Given the description of an element on the screen output the (x, y) to click on. 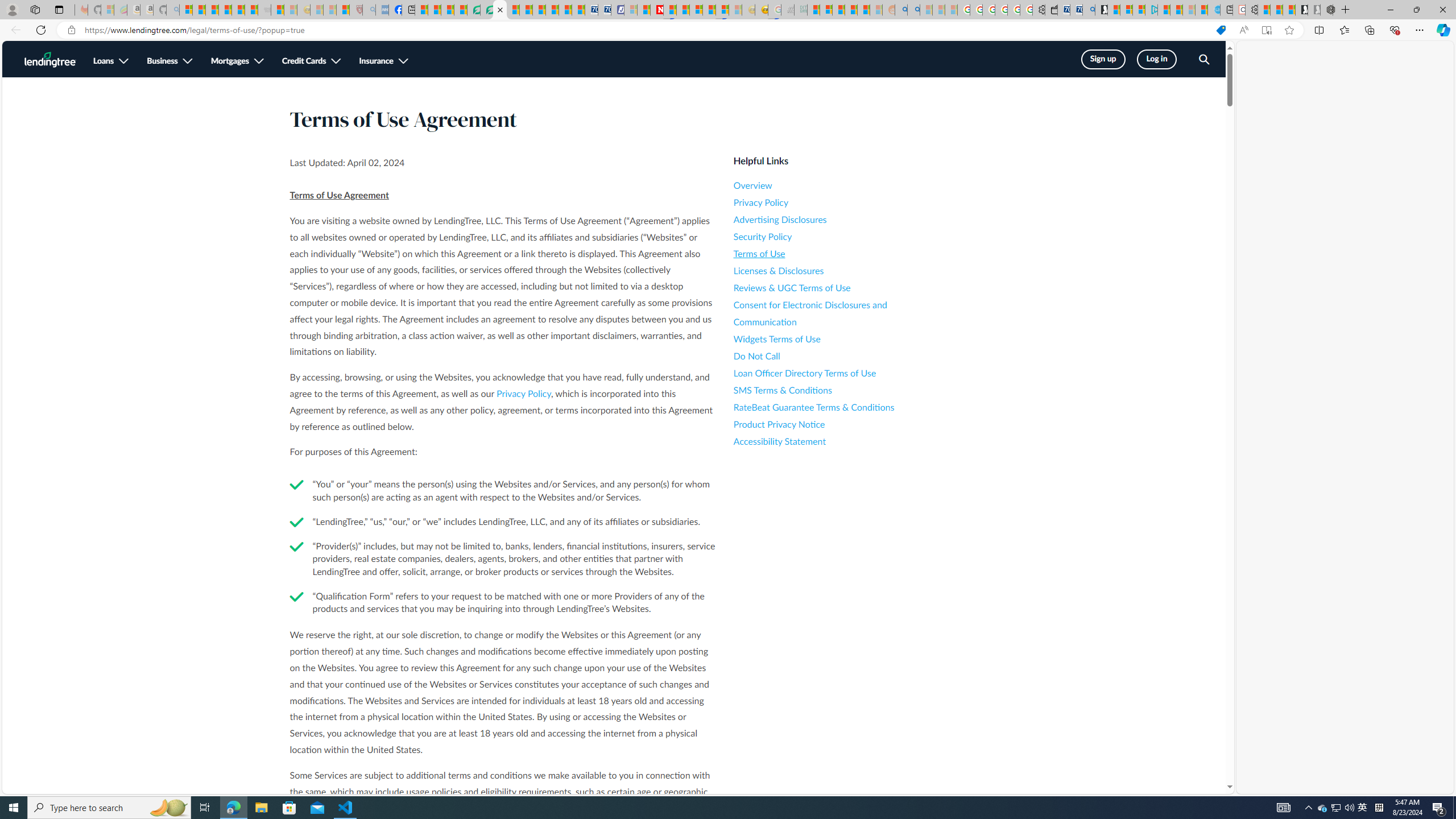
Loans, see more (111, 61)
Local - MSN (342, 9)
Student Loan Update: Forgiveness Program Ends This Month (864, 9)
Wallet (1050, 9)
Consent for Electronic Disclosures and Communication (836, 313)
